Given the description of an element on the screen output the (x, y) to click on. 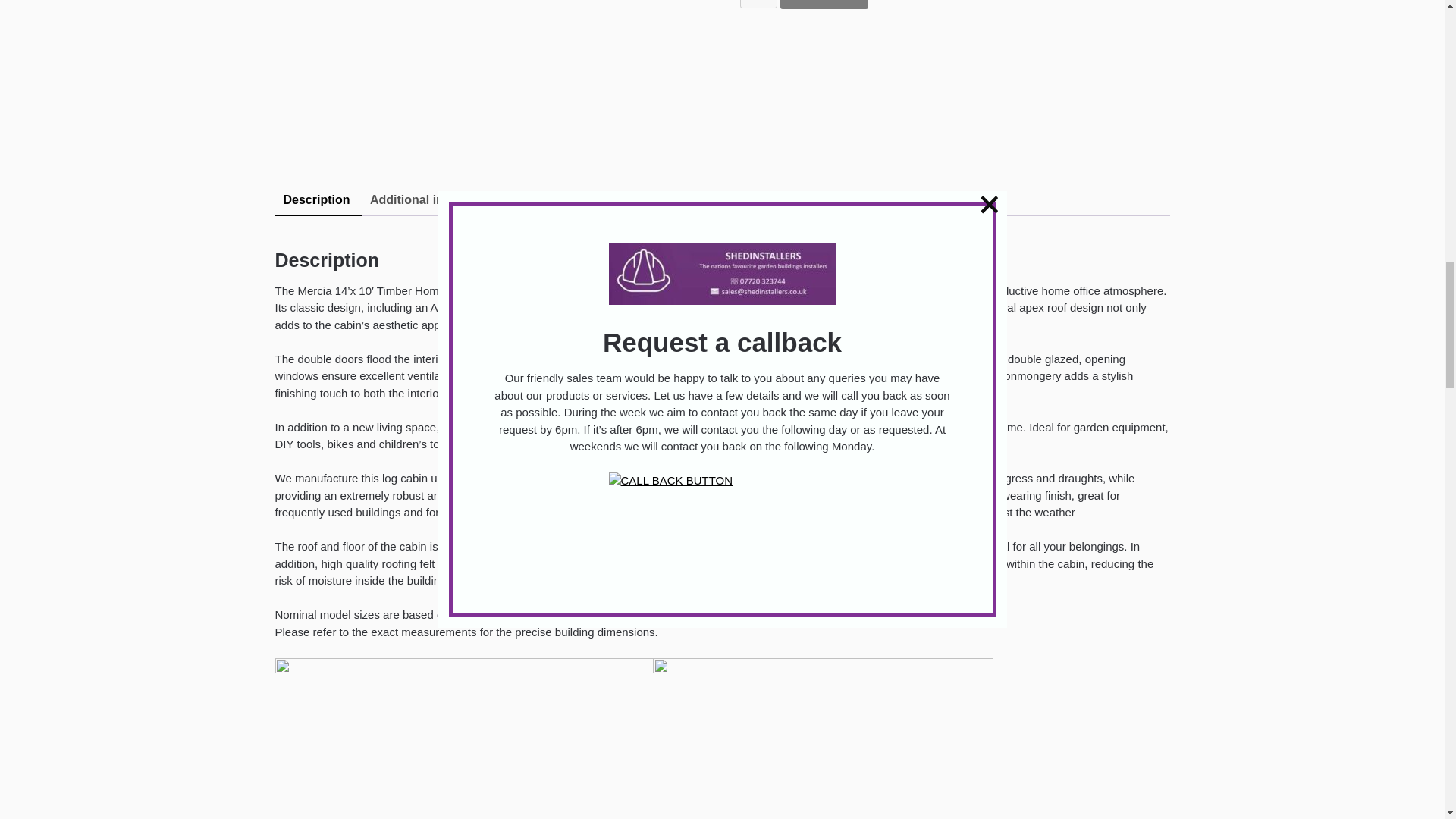
1 (757, 4)
